Given the description of an element on the screen output the (x, y) to click on. 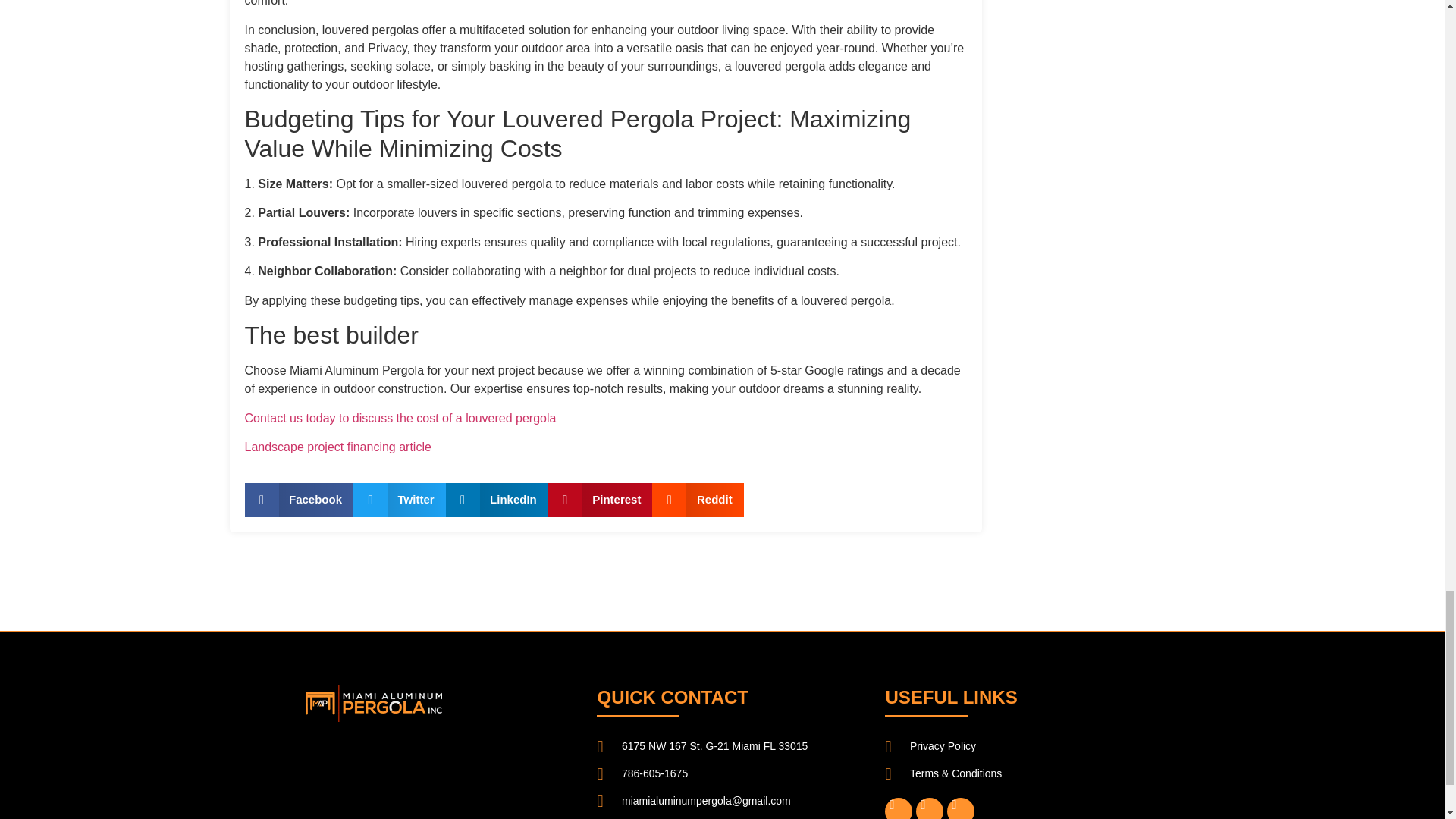
Contact us today to discuss the cost of a louvered pergola (400, 418)
Privacy Policy (1010, 746)
786-605-1675 (721, 773)
Landscape project financing article (337, 446)
